Given the description of an element on the screen output the (x, y) to click on. 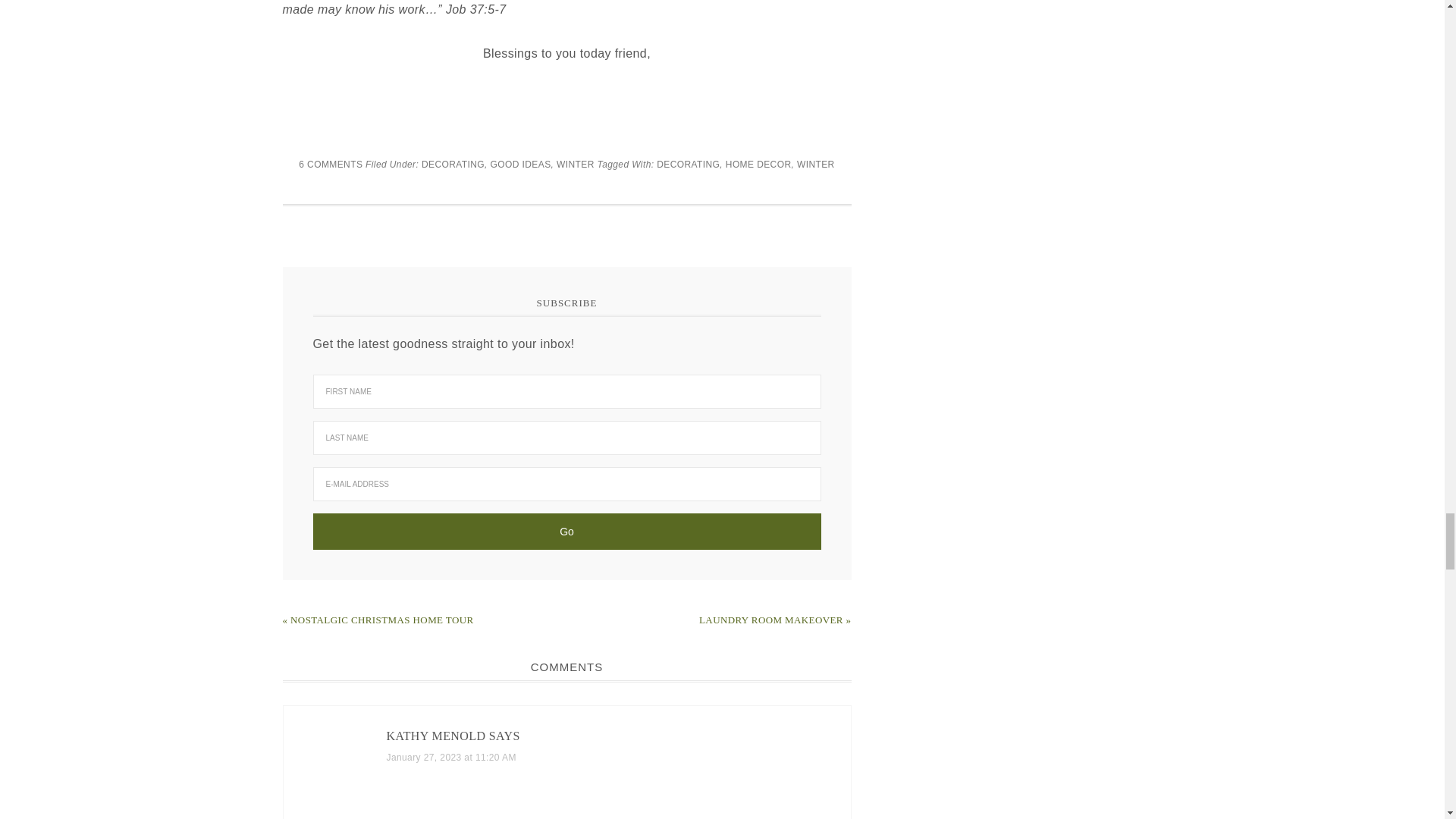
Go (567, 531)
